Given the description of an element on the screen output the (x, y) to click on. 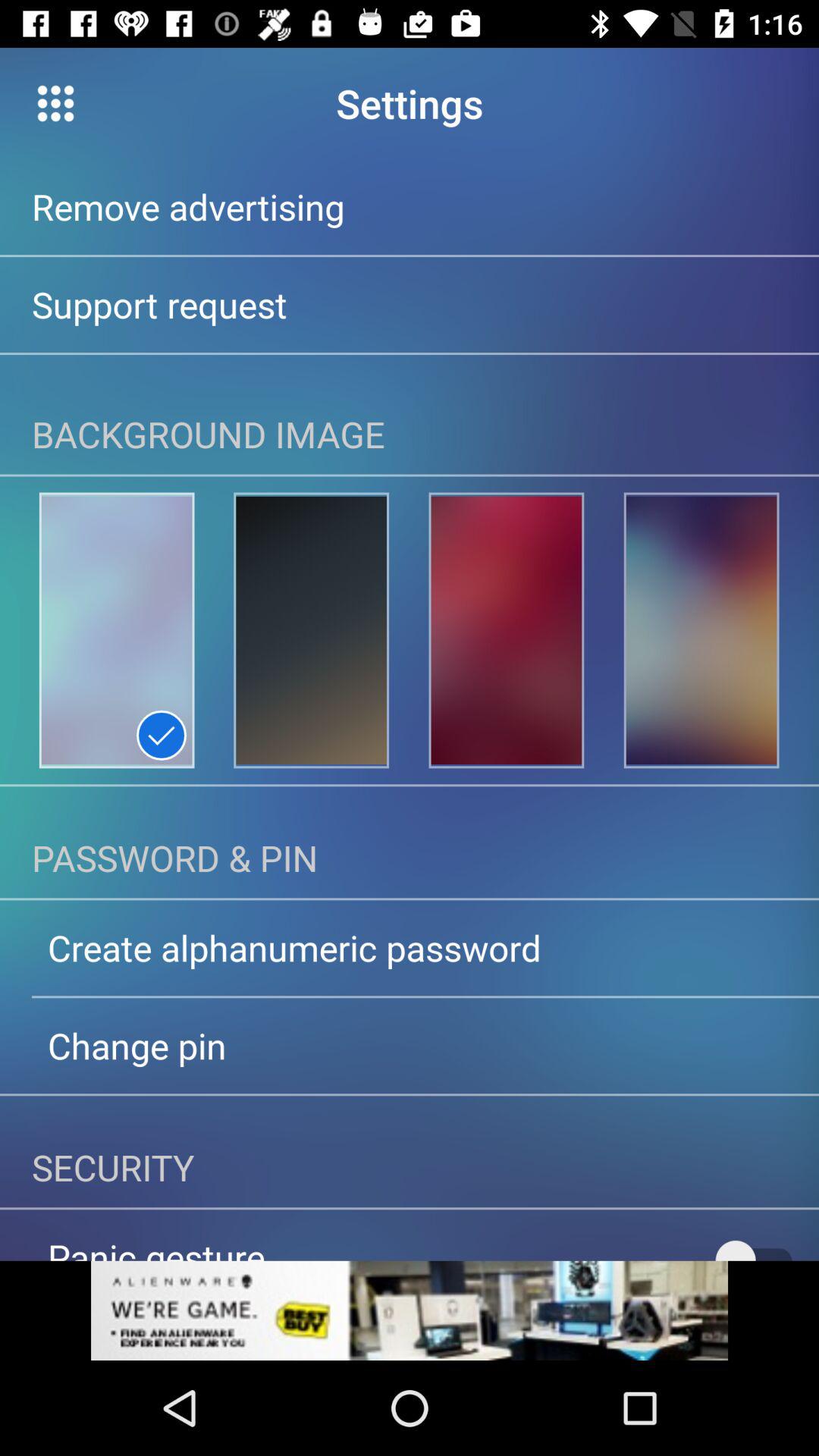
go do couler (311, 630)
